Given the description of an element on the screen output the (x, y) to click on. 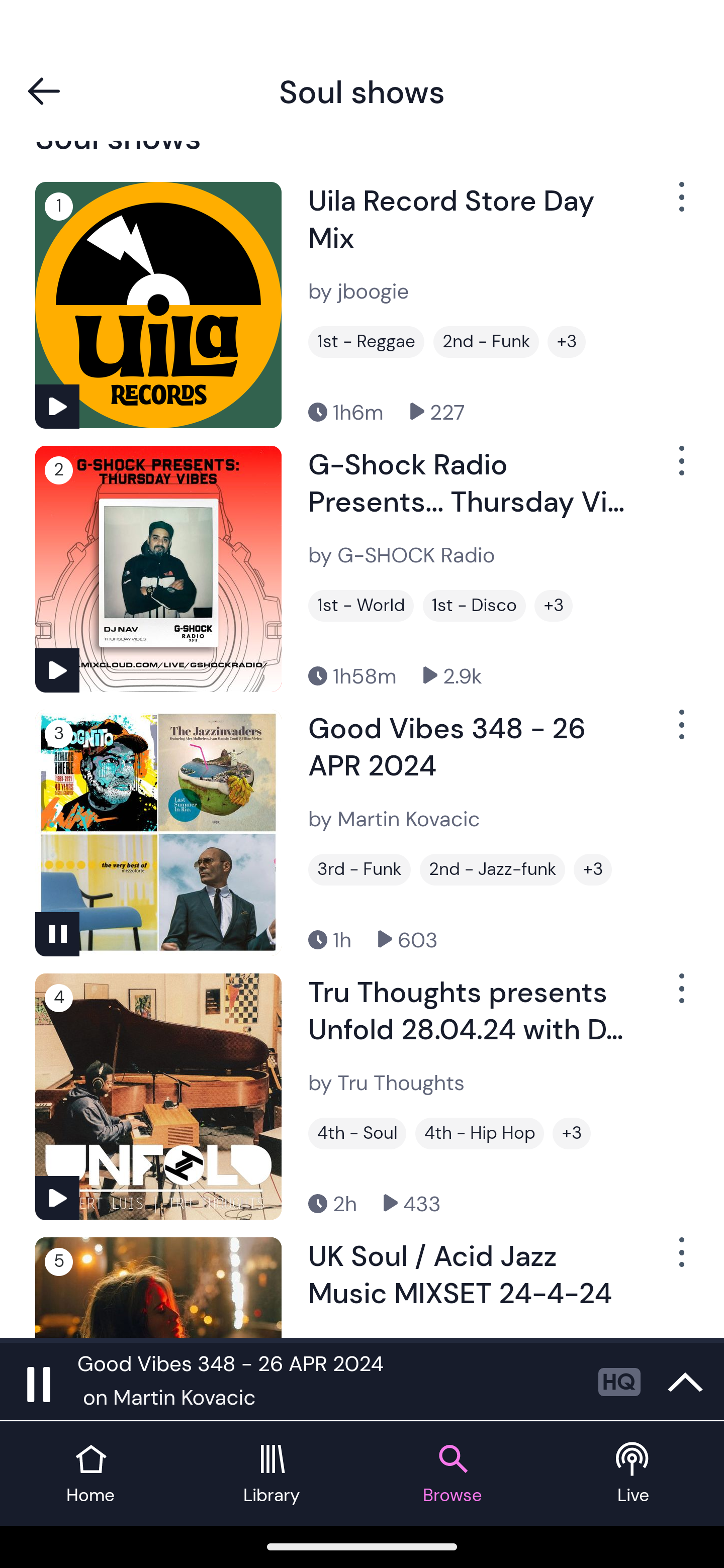
Show Options Menu Button (679, 204)
1st - Reggae (366, 341)
2nd - Funk (485, 341)
Show Options Menu Button (679, 467)
1st - World (361, 604)
1st - Disco (473, 604)
Show Options Menu Button (679, 732)
3rd - Funk (359, 869)
2nd - Jazz-funk (492, 869)
Show Options Menu Button (679, 996)
4th - Soul (357, 1133)
4th - Hip Hop (479, 1133)
Show Options Menu Button (679, 1259)
Home tab Home (90, 1473)
Library tab Library (271, 1473)
Browse tab Browse (452, 1473)
Live tab Live (633, 1473)
